Given the description of an element on the screen output the (x, y) to click on. 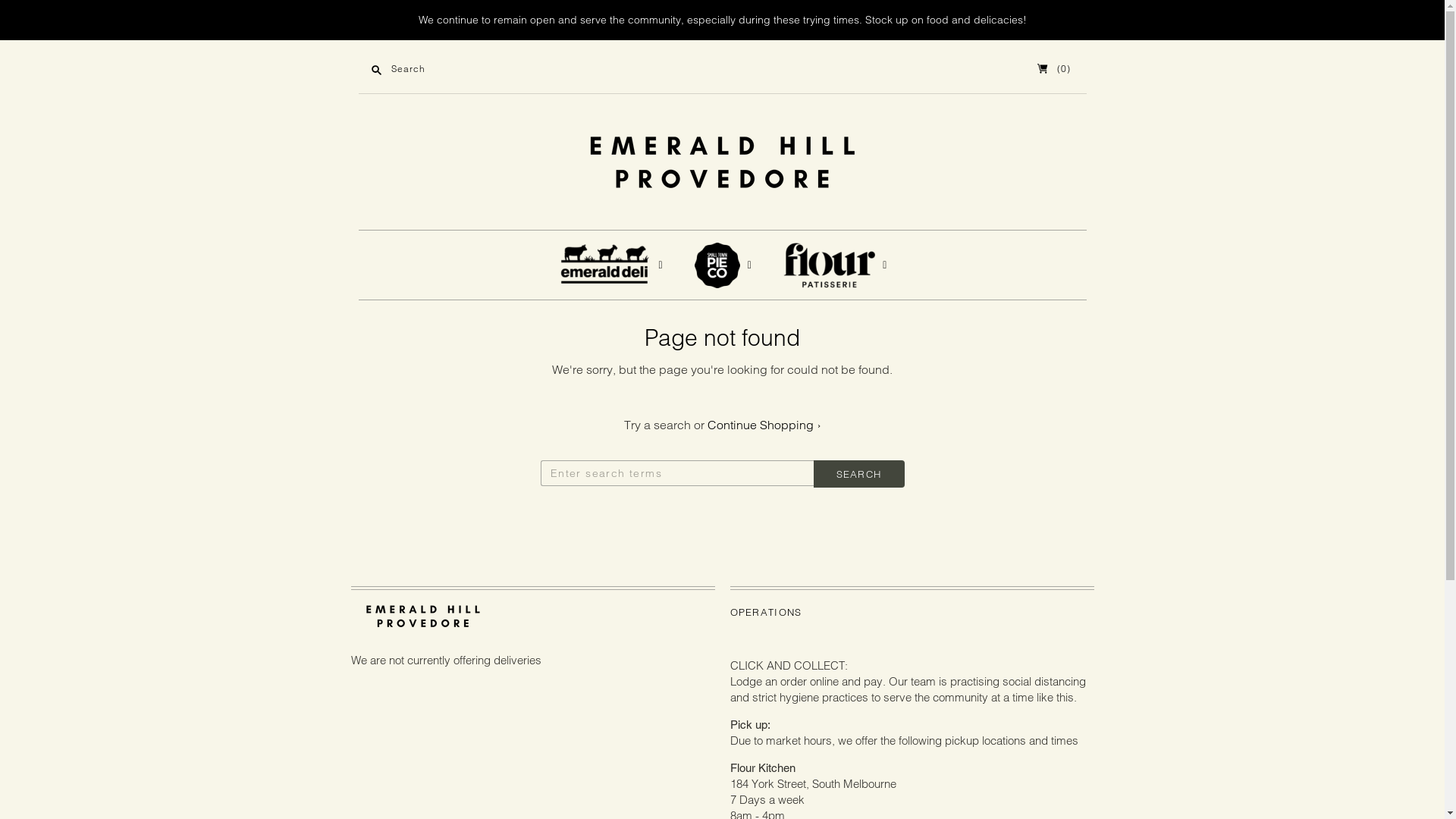
(0) Element type: text (1054, 68)
Search Element type: text (857, 473)
